Given the description of an element on the screen output the (x, y) to click on. 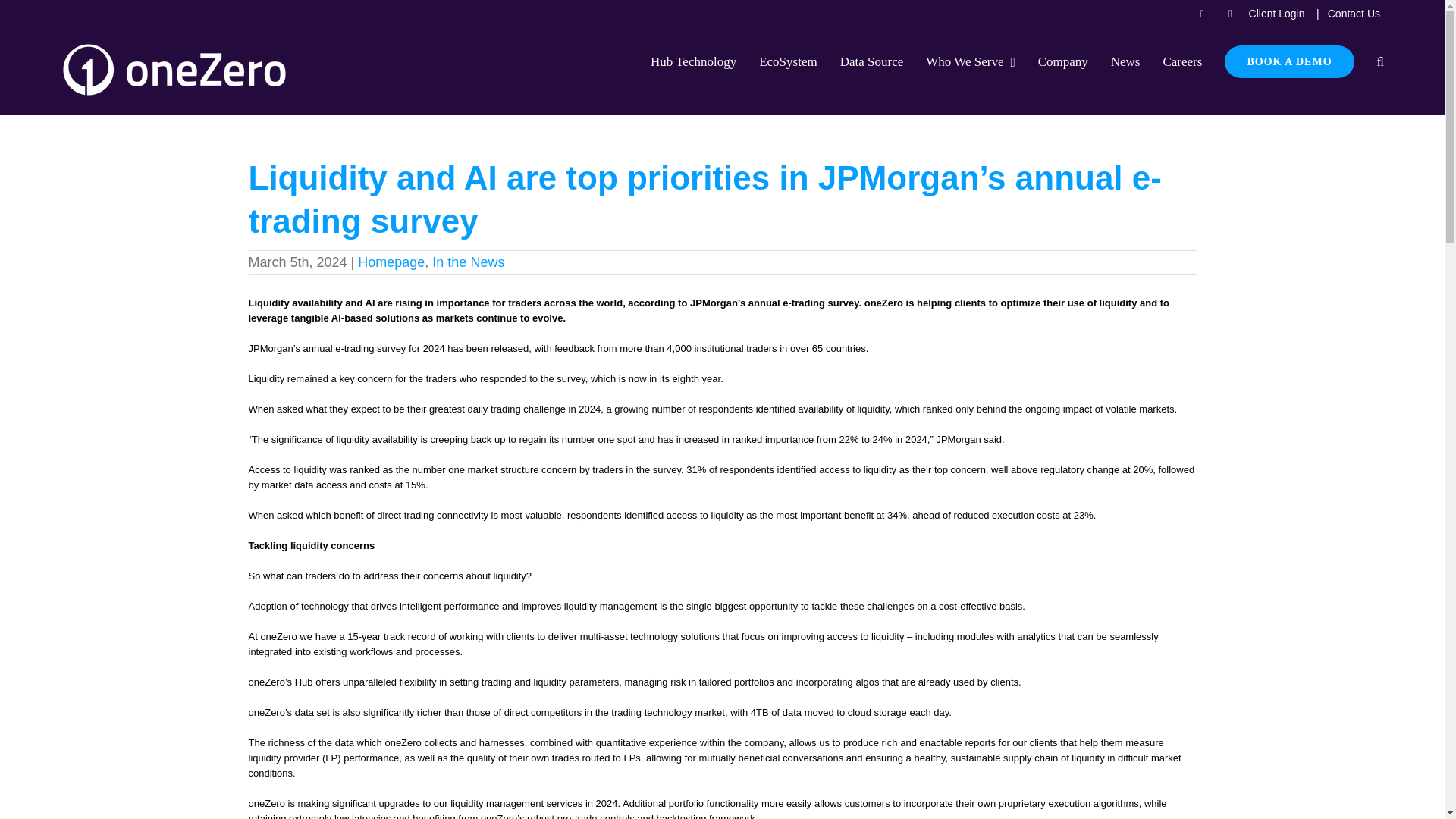
Contact Us (1353, 13)
BOOK A DEMO (1289, 61)
Homepage (391, 262)
EcoSystem (787, 61)
Company (1062, 61)
In the News (467, 262)
Careers (1181, 61)
Search (1380, 61)
News (1125, 61)
Data Source (872, 61)
Who We Serve (970, 61)
Hub Technology (693, 61)
